Given the description of an element on the screen output the (x, y) to click on. 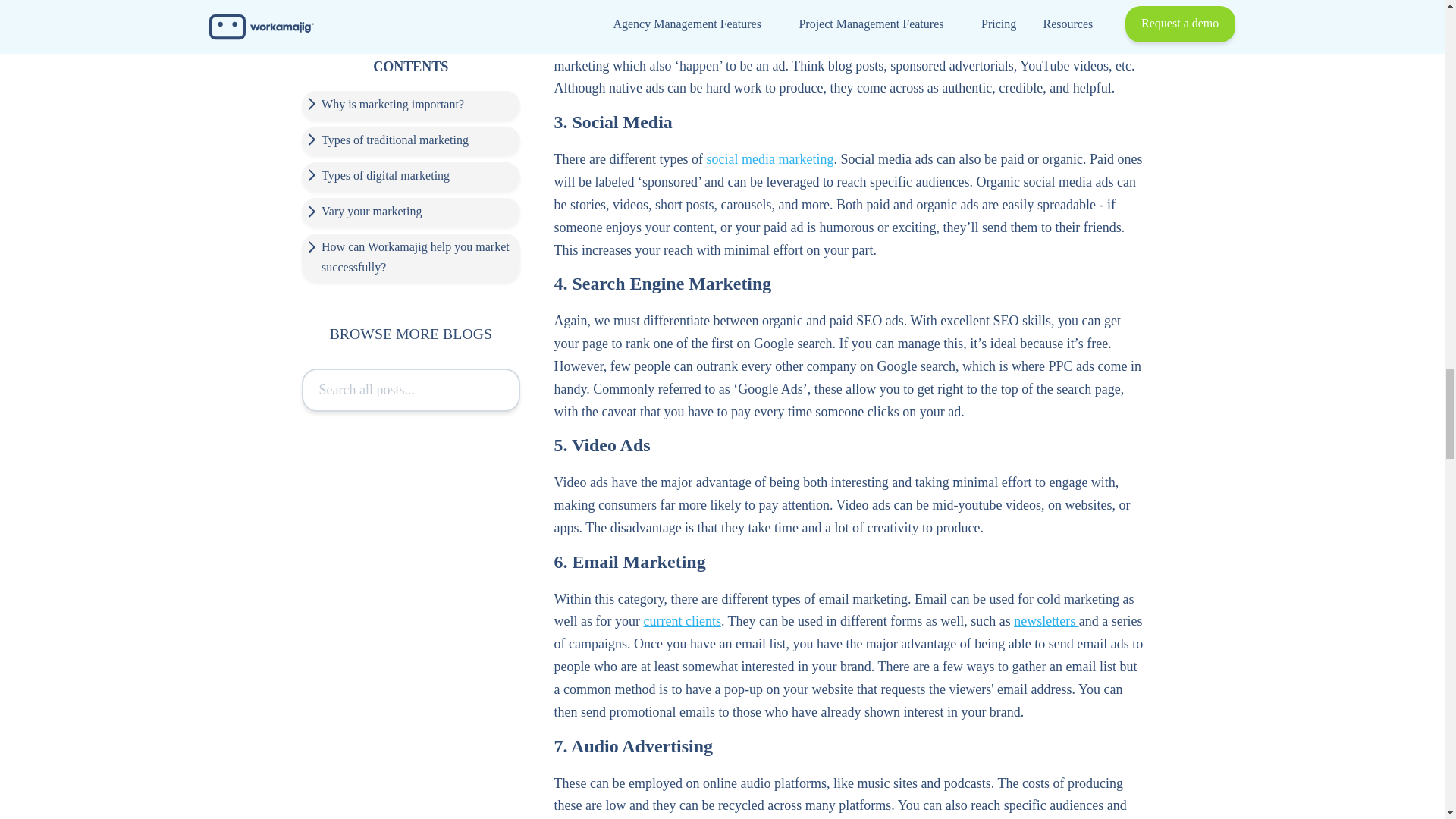
current clients (681, 620)
social media marketing (770, 159)
newsletters (1045, 620)
